Given the description of an element on the screen output the (x, y) to click on. 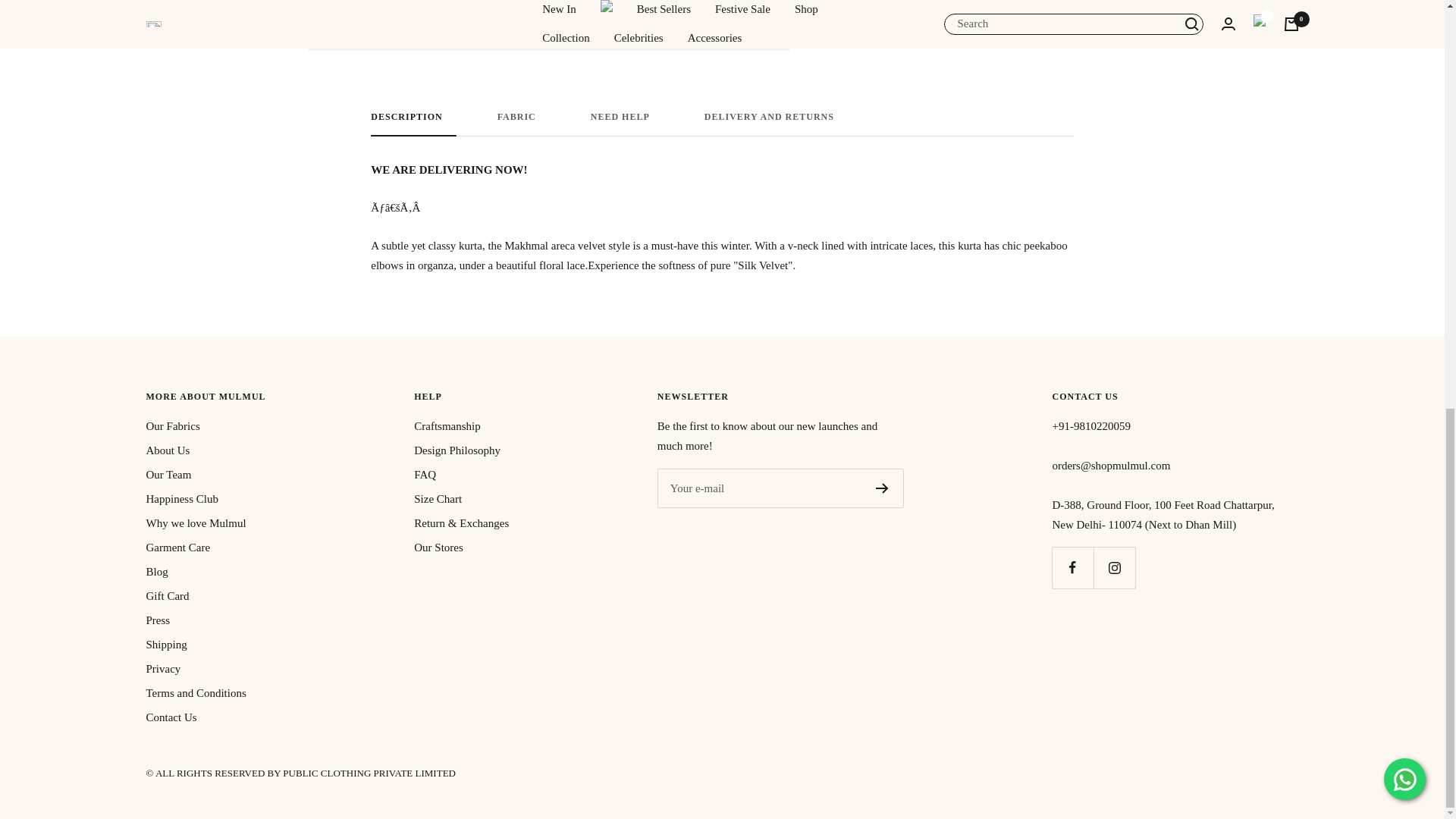
Register (722, 123)
